Given the description of an element on the screen output the (x, y) to click on. 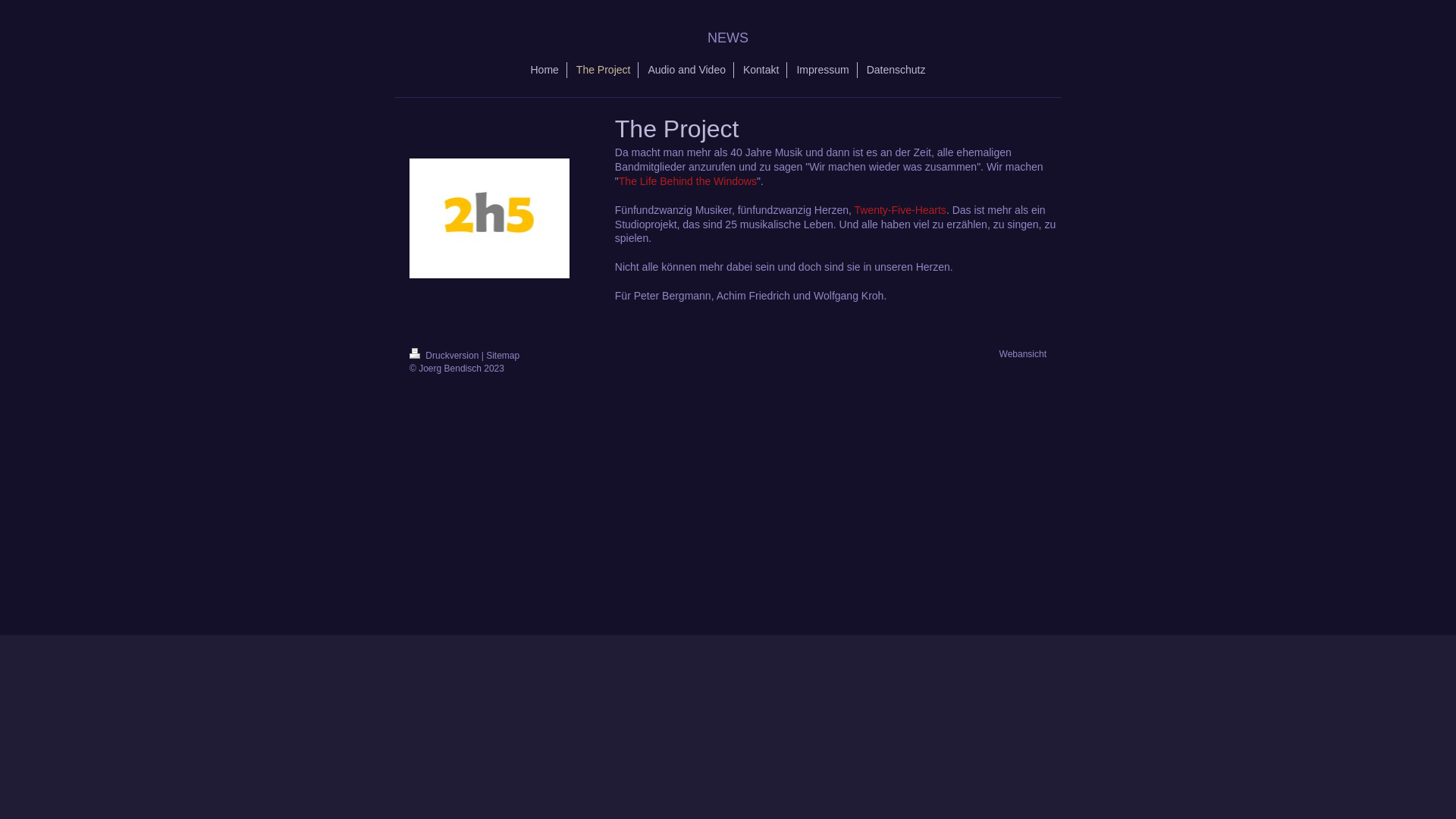
Home Element type: text (545, 70)
Datenschutz Element type: text (896, 70)
Druckversion Element type: text (445, 355)
Impressum Element type: text (822, 70)
Sitemap Element type: text (502, 355)
The Project Element type: text (603, 70)
Kontakt Element type: text (761, 70)
Webansicht Element type: text (1022, 353)
Audio and Video Element type: text (687, 70)
NEWS Element type: text (727, 37)
